Given the description of an element on the screen output the (x, y) to click on. 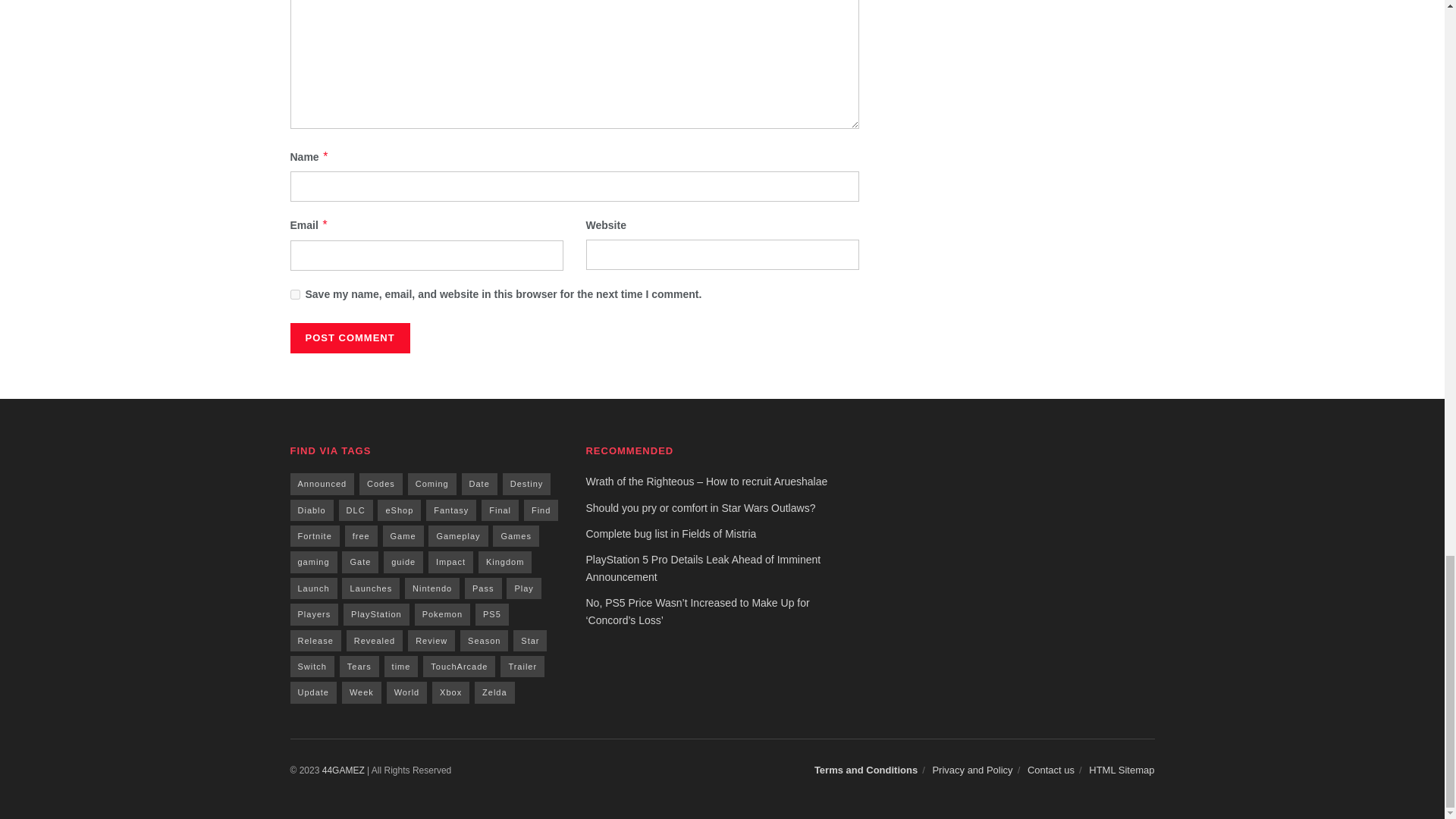
yes (294, 294)
Premium news  (343, 769)
Post Comment (349, 337)
